Given the description of an element on the screen output the (x, y) to click on. 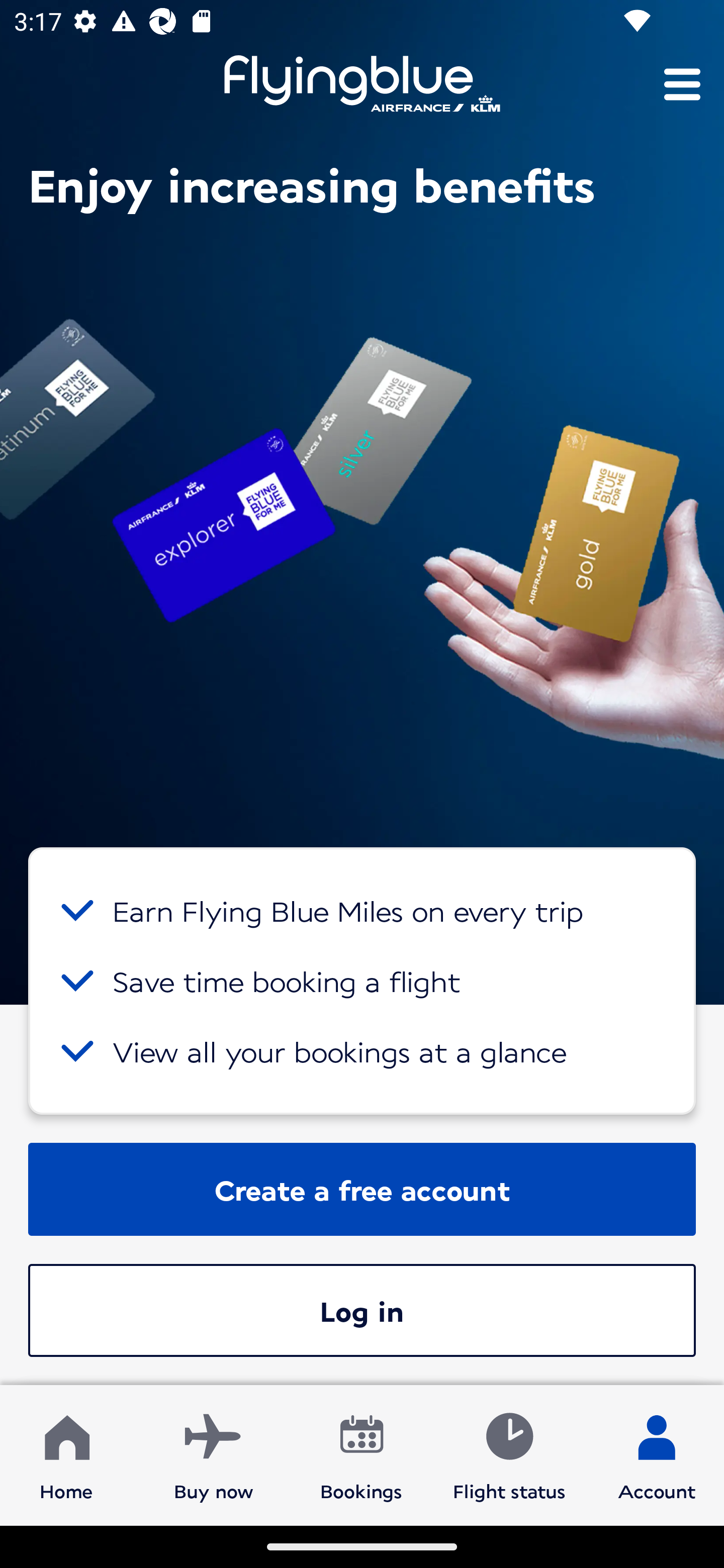
Create a free account (361, 1189)
Log in (361, 1309)
Home (66, 1454)
Buy now (213, 1454)
Bookings (361, 1454)
Flight status (509, 1454)
